Given the description of an element on the screen output the (x, y) to click on. 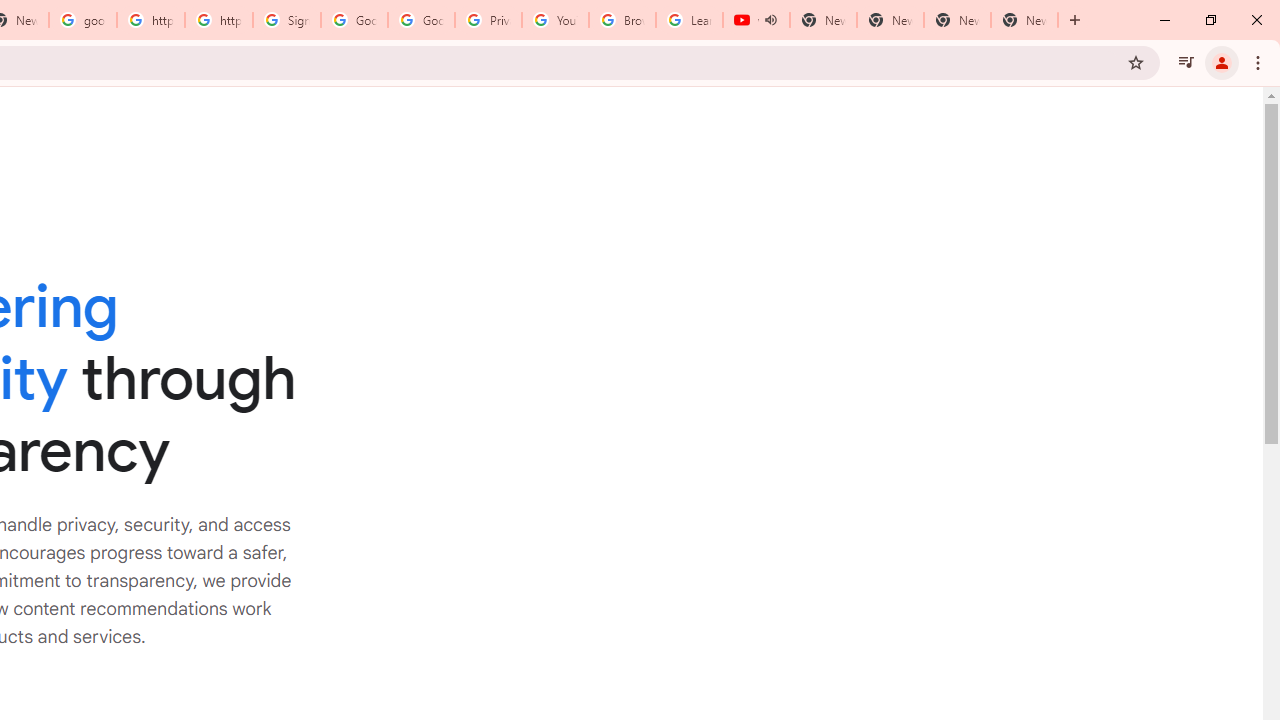
Control your music, videos, and more (1185, 62)
https://scholar.google.com/ (219, 20)
New Tab (1024, 20)
Sign in - Google Accounts (287, 20)
Browse Chrome as a guest - Computer - Google Chrome Help (622, 20)
Mute tab (770, 20)
